Given the description of an element on the screen output the (x, y) to click on. 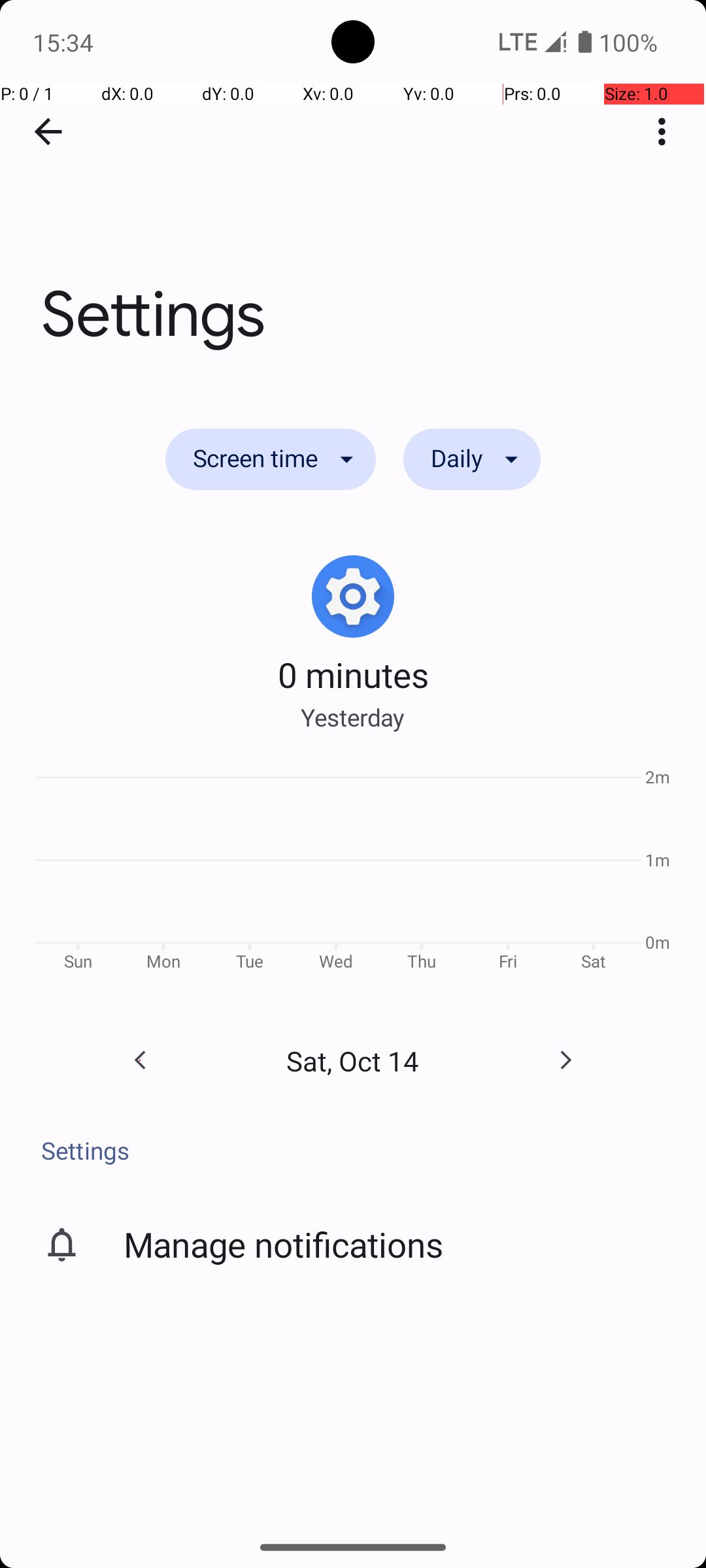
0 minutes Element type: android.widget.TextView (353, 674)
Go to the previous day Element type: android.widget.Button (139, 1060)
Go to the next day Element type: android.widget.Button (565, 1060)
Manage notifications Element type: android.widget.TextView (283, 1244)
